Given the description of an element on the screen output the (x, y) to click on. 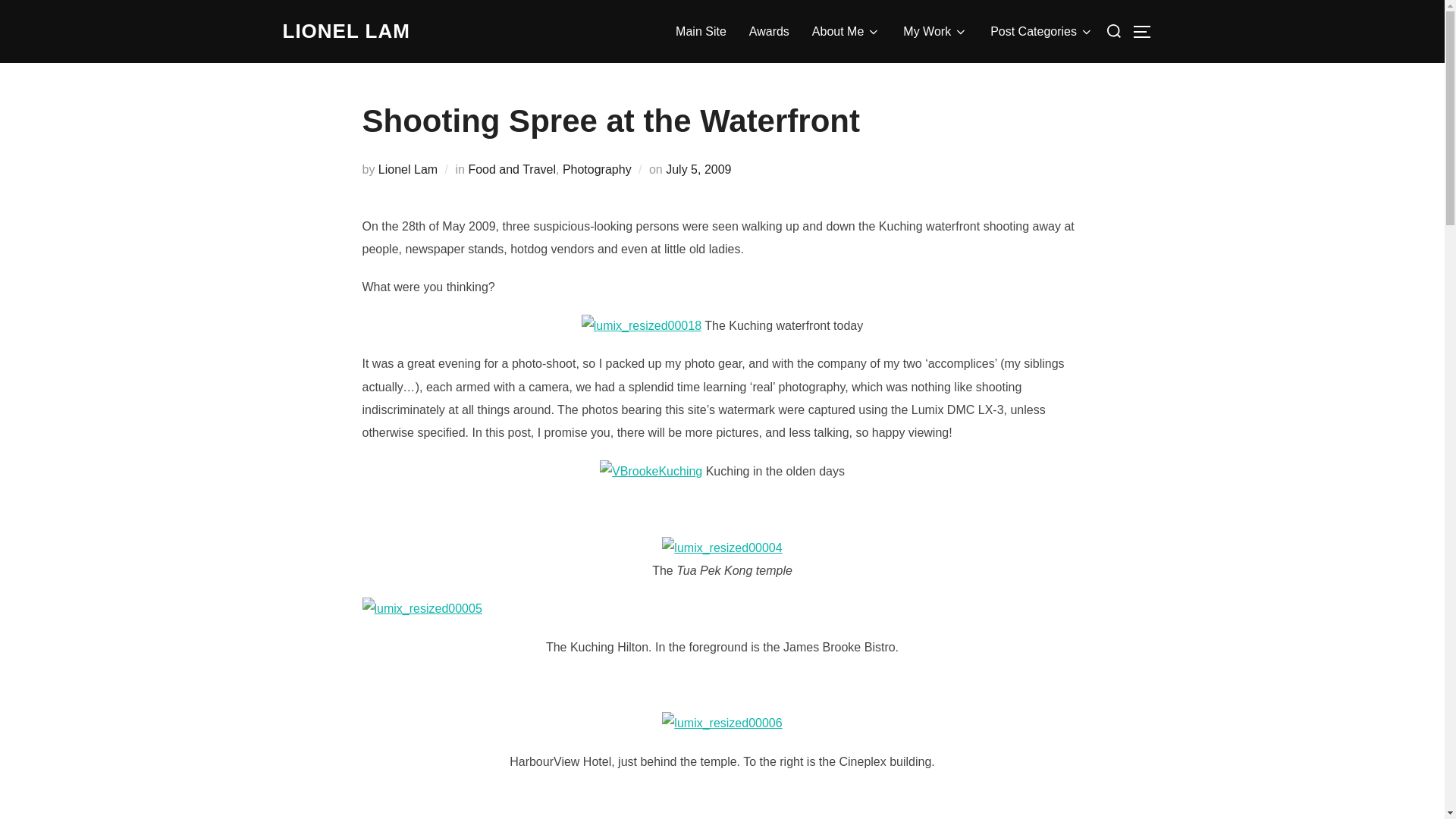
VBrookeKuching (650, 471)
Street, Travel, Landscape Photography (345, 31)
